Given the description of an element on the screen output the (x, y) to click on. 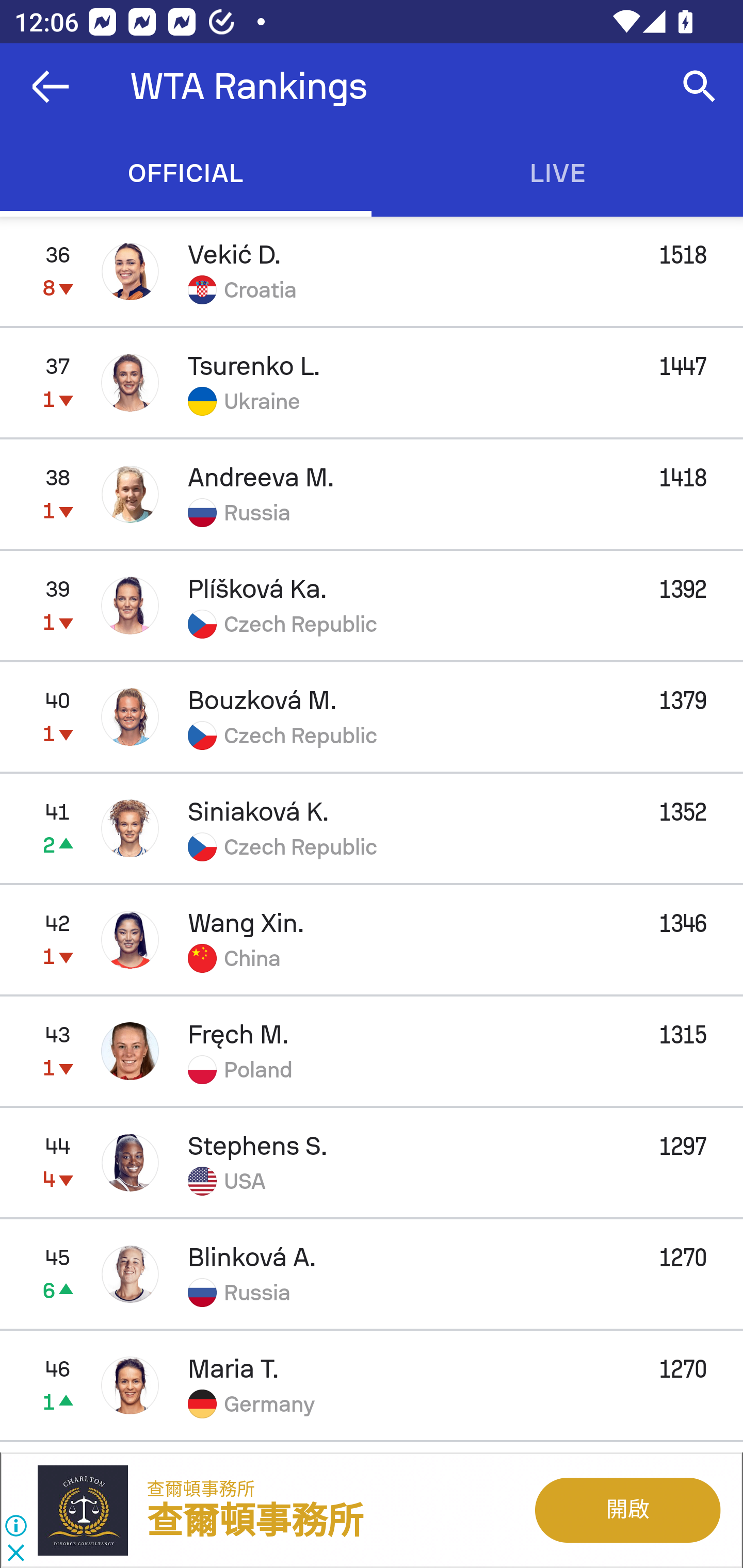
Navigate up (50, 86)
Search (699, 86)
Live LIVE (557, 173)
36 8 Vekić D. 1518 Croatia (371, 271)
37 1 Tsurenko L. 1447 Ukraine (371, 382)
38 1 Andreeva M. 1418 Russia (371, 493)
39 1 Plíšková Ka. 1392 Czech Republic (371, 605)
40 1 Bouzková M. 1379 Czech Republic (371, 716)
41 2 Siniaková K. 1352 Czech Republic (371, 827)
42 1 Wang Xin. 1346 China (371, 939)
43 1 Fręch M. 1315 Poland (371, 1051)
44 4 Stephens S. 1297 USA (371, 1162)
45 6 Blinková A. 1270 Russia (371, 1273)
46 1 Maria T. 1270 Germany (371, 1385)
www.charltondivorce (92, 1509)
查爾頓事務所 (200, 1488)
開啟 (626, 1509)
查爾頓事務所 (254, 1521)
